Given the description of an element on the screen output the (x, y) to click on. 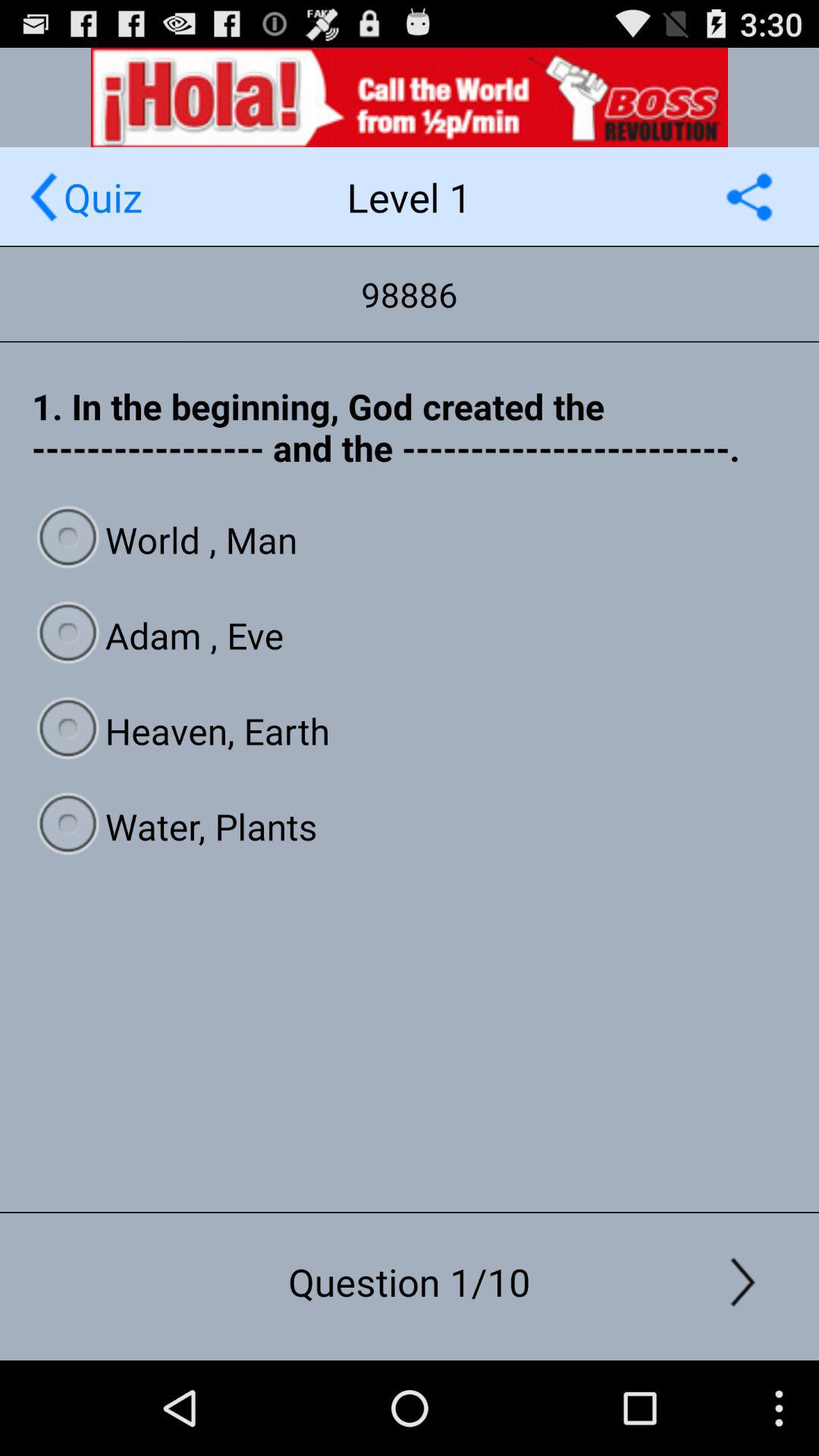
click to share (749, 196)
